Given the description of an element on the screen output the (x, y) to click on. 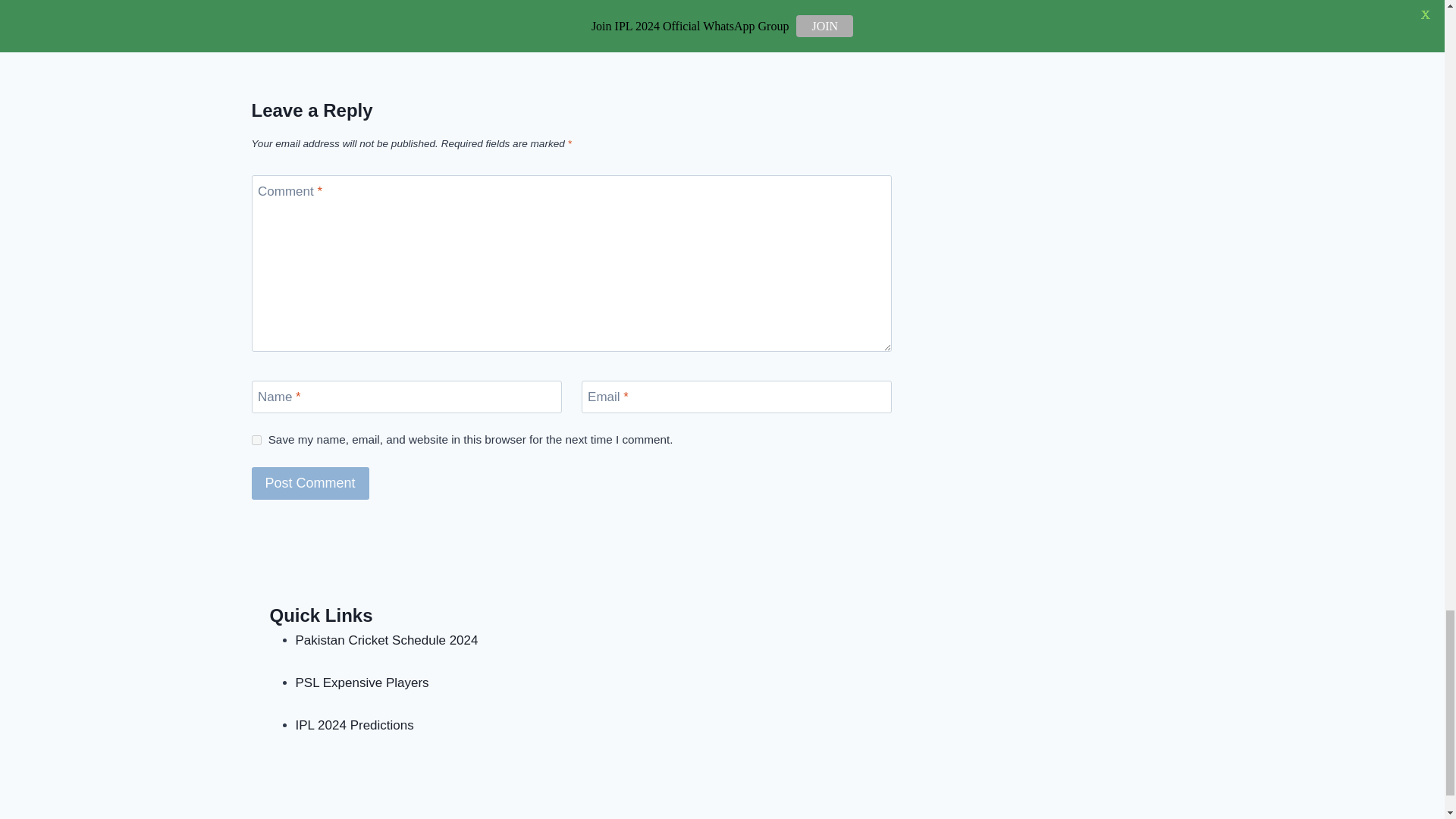
Post Comment (310, 482)
yes (256, 439)
